Given the description of an element on the screen output the (x, y) to click on. 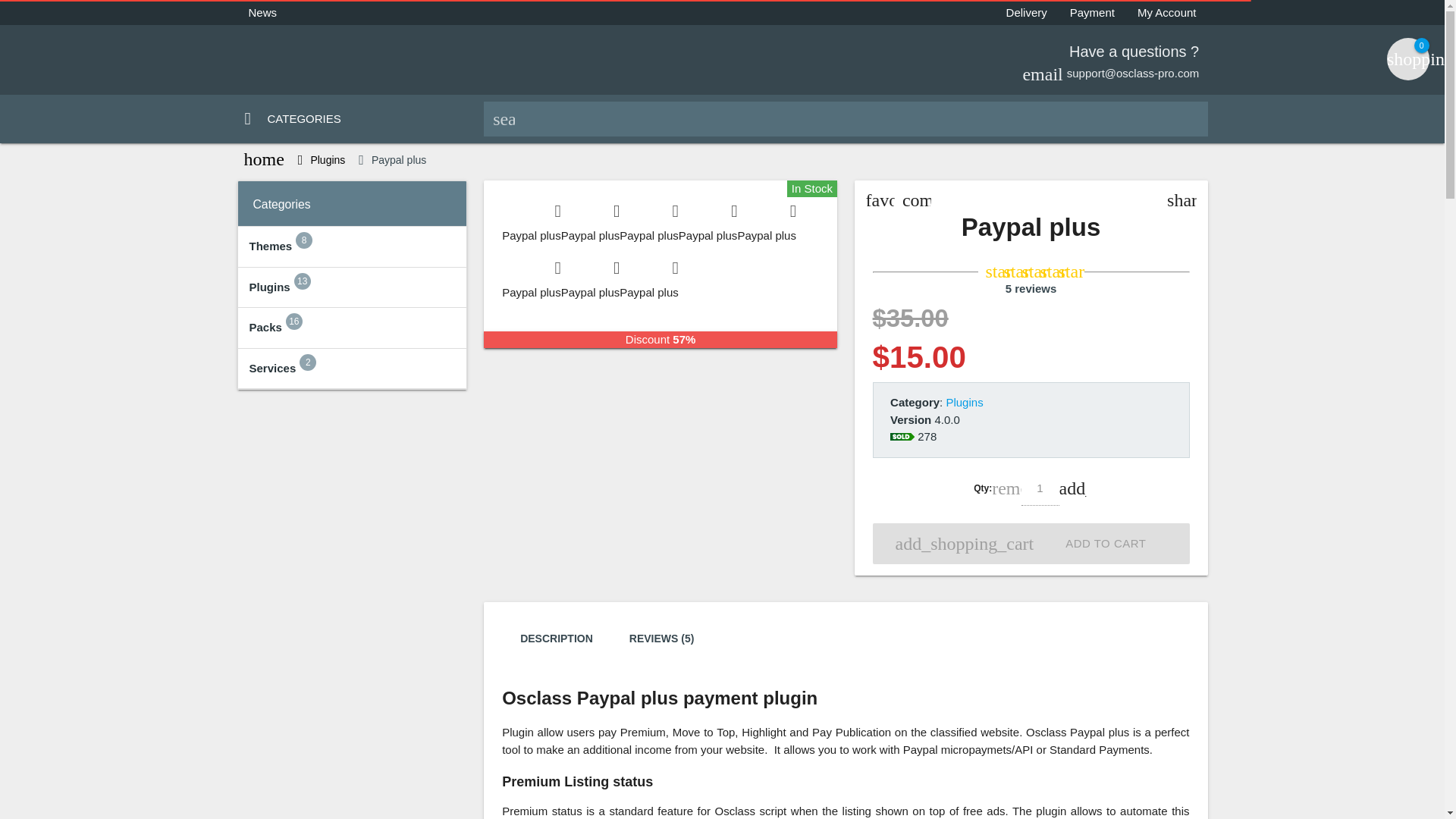
Payment (1091, 12)
osclass-pro.com (360, 56)
News (261, 12)
